Given the description of an element on the screen output the (x, y) to click on. 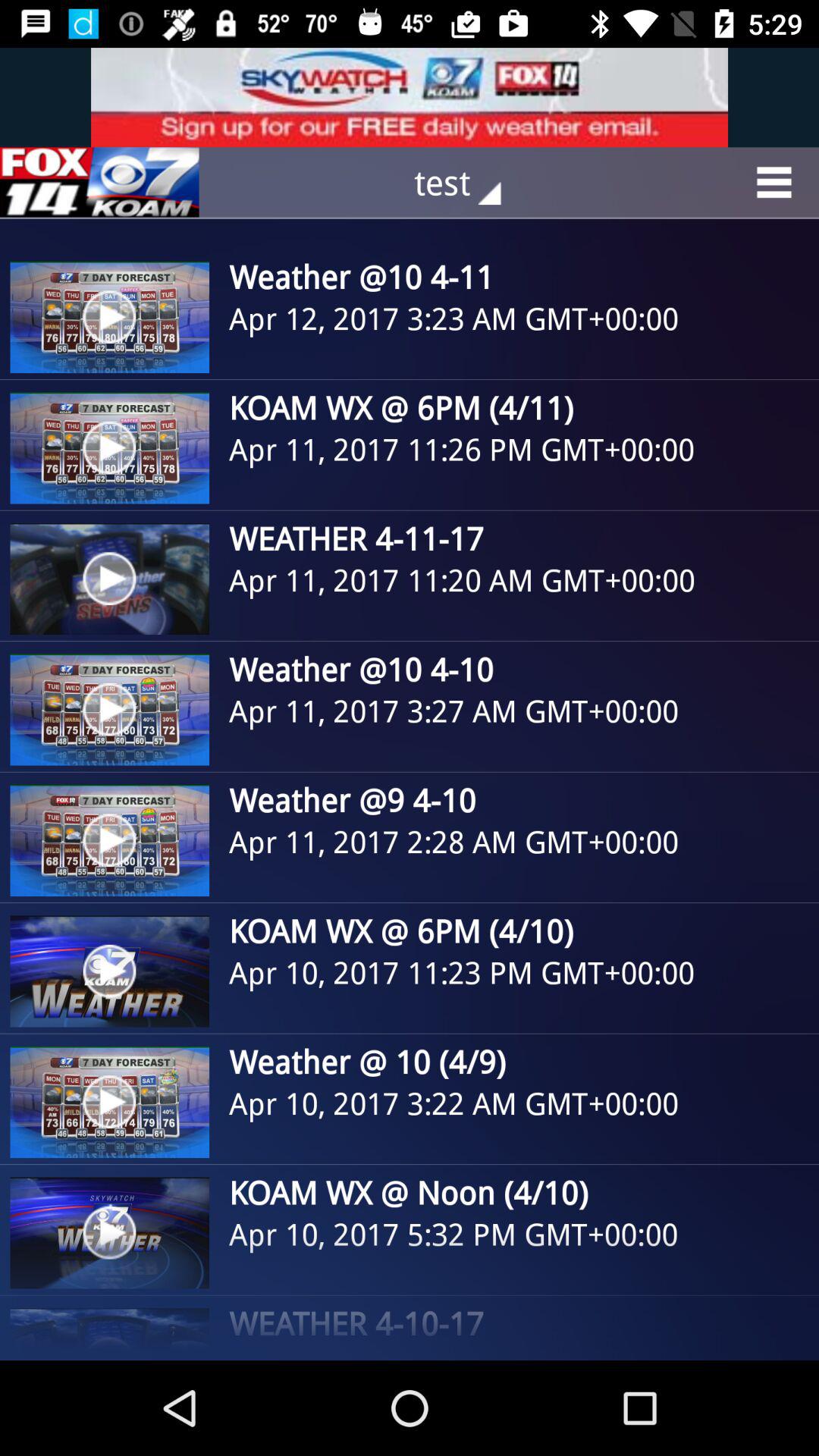
visit advertised site (409, 97)
